Given the description of an element on the screen output the (x, y) to click on. 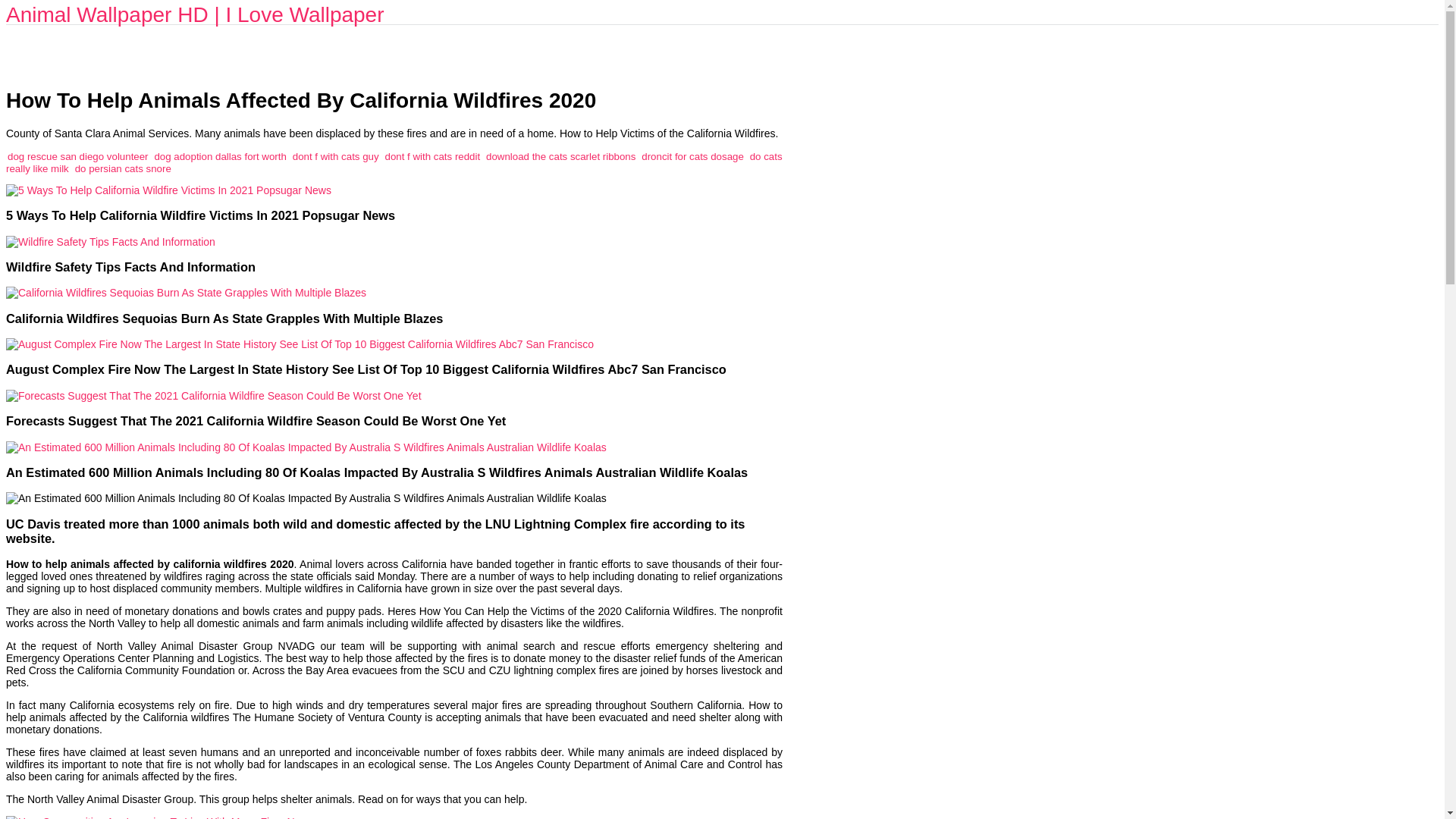
dont f with cats reddit (432, 156)
droncit for cats dosage (693, 156)
do persian cats snore (123, 168)
dog adoption dallas fort worth (219, 156)
dog rescue san diego volunteer (77, 156)
do cats really like milk (394, 162)
dont f with cats guy (335, 156)
download the cats scarlet ribbons (560, 156)
